Given the description of an element on the screen output the (x, y) to click on. 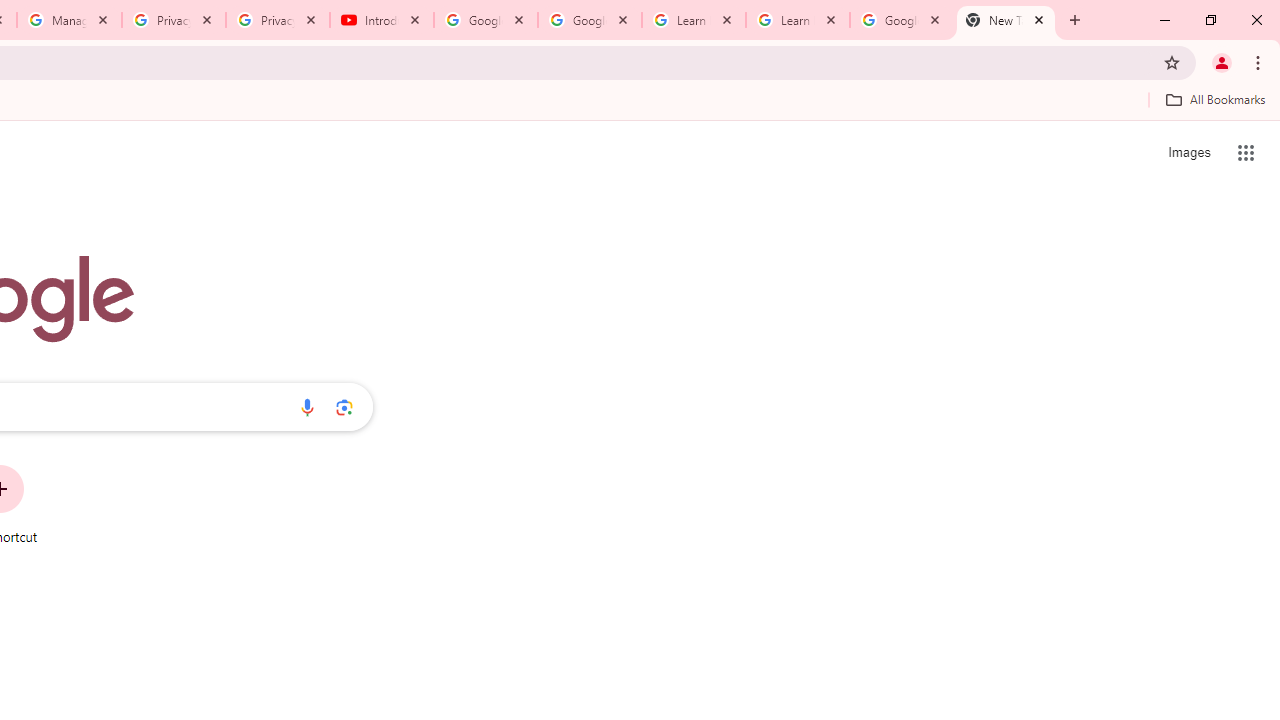
All Bookmarks (1215, 99)
Search by image (344, 407)
New Tab (1005, 20)
Search by voice (307, 407)
Google Account Help (589, 20)
Google Account (901, 20)
Google Account Help (485, 20)
